Given the description of an element on the screen output the (x, y) to click on. 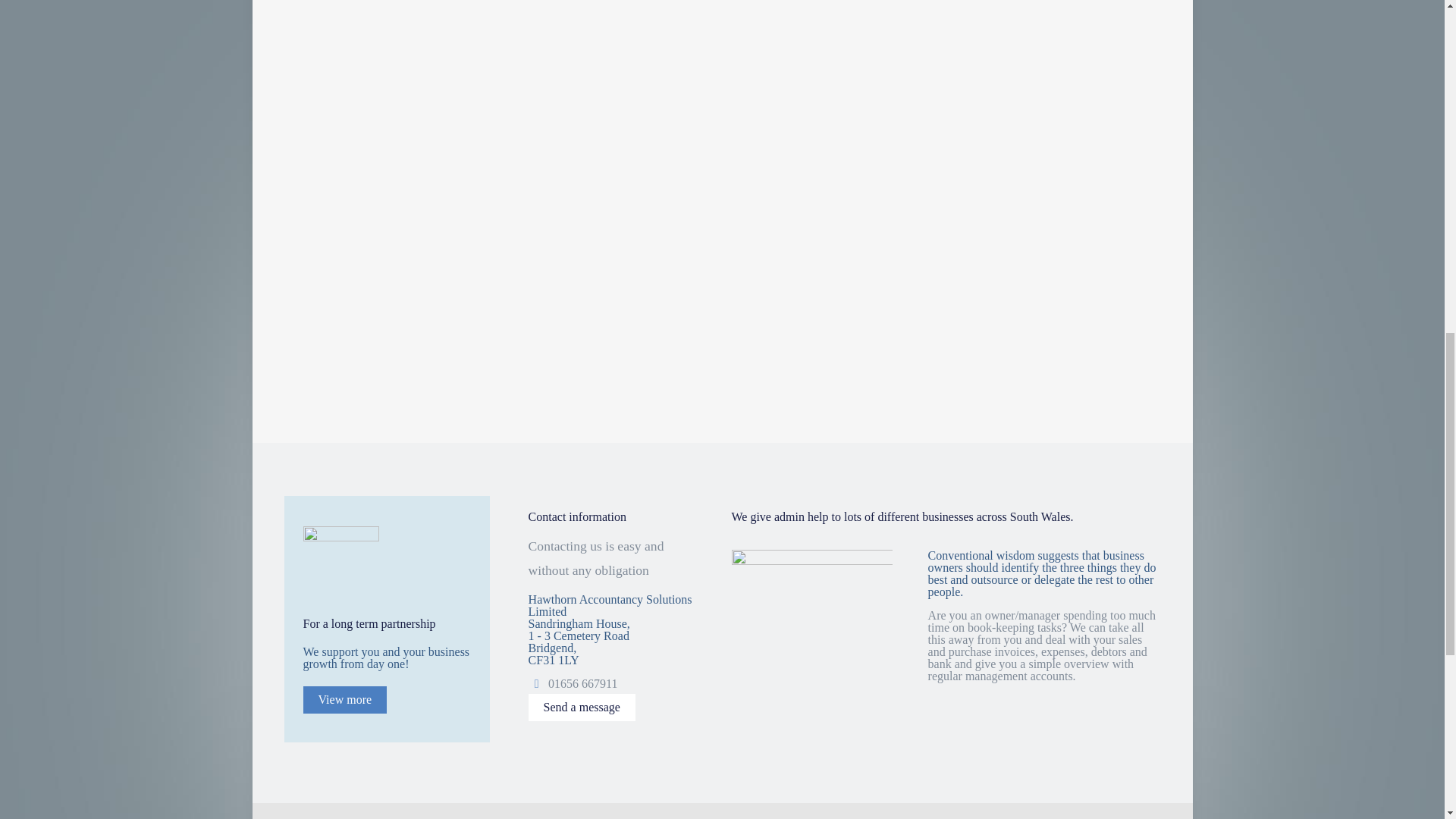
Send a message (581, 707)
View more (344, 699)
